Given the description of an element on the screen output the (x, y) to click on. 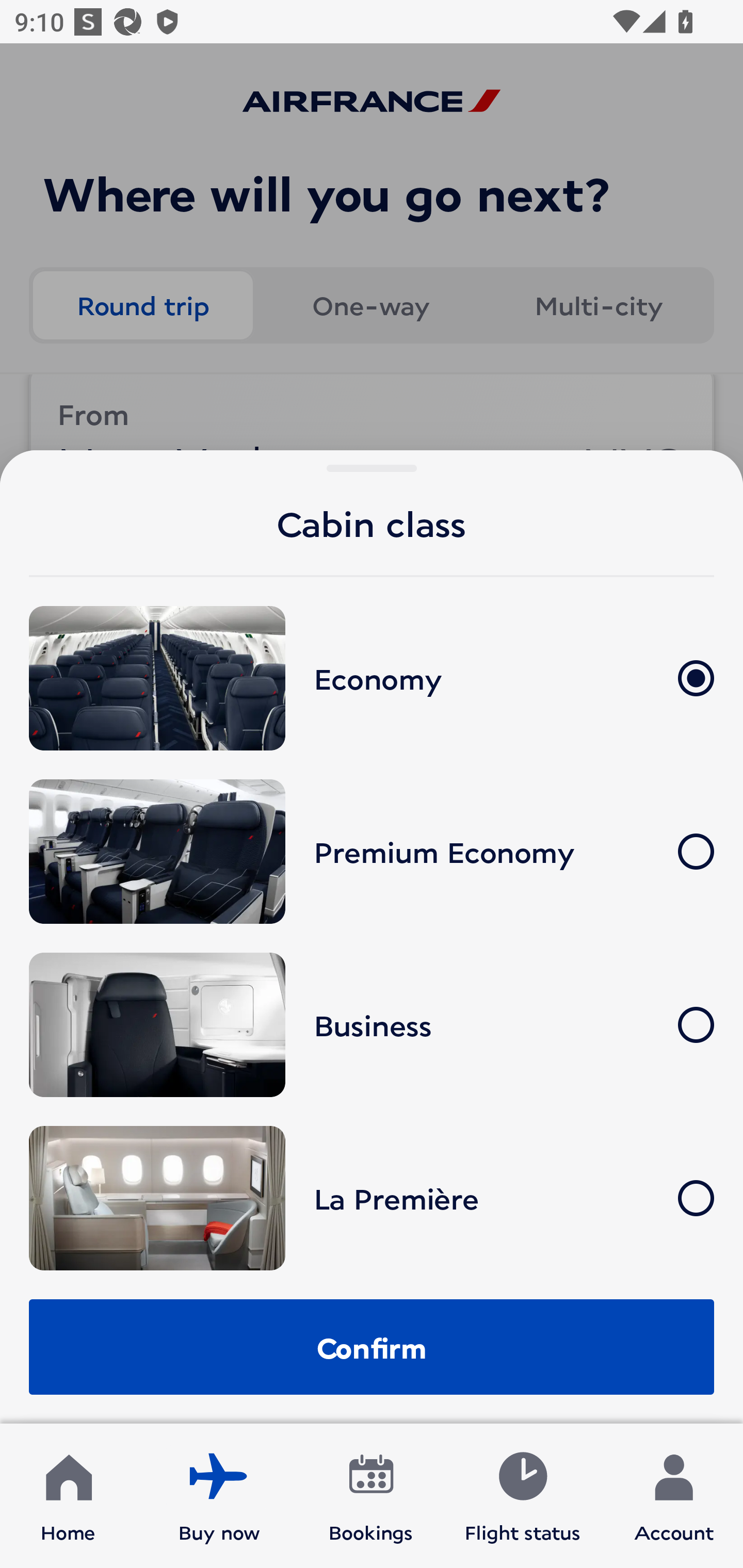
Economy (371, 678)
Premium Economy (371, 851)
Business (371, 1025)
La Première (371, 1197)
Confirm (371, 1346)
Home (68, 1495)
Bookings (370, 1495)
Flight status (522, 1495)
Account (674, 1495)
